Given the description of an element on the screen output the (x, y) to click on. 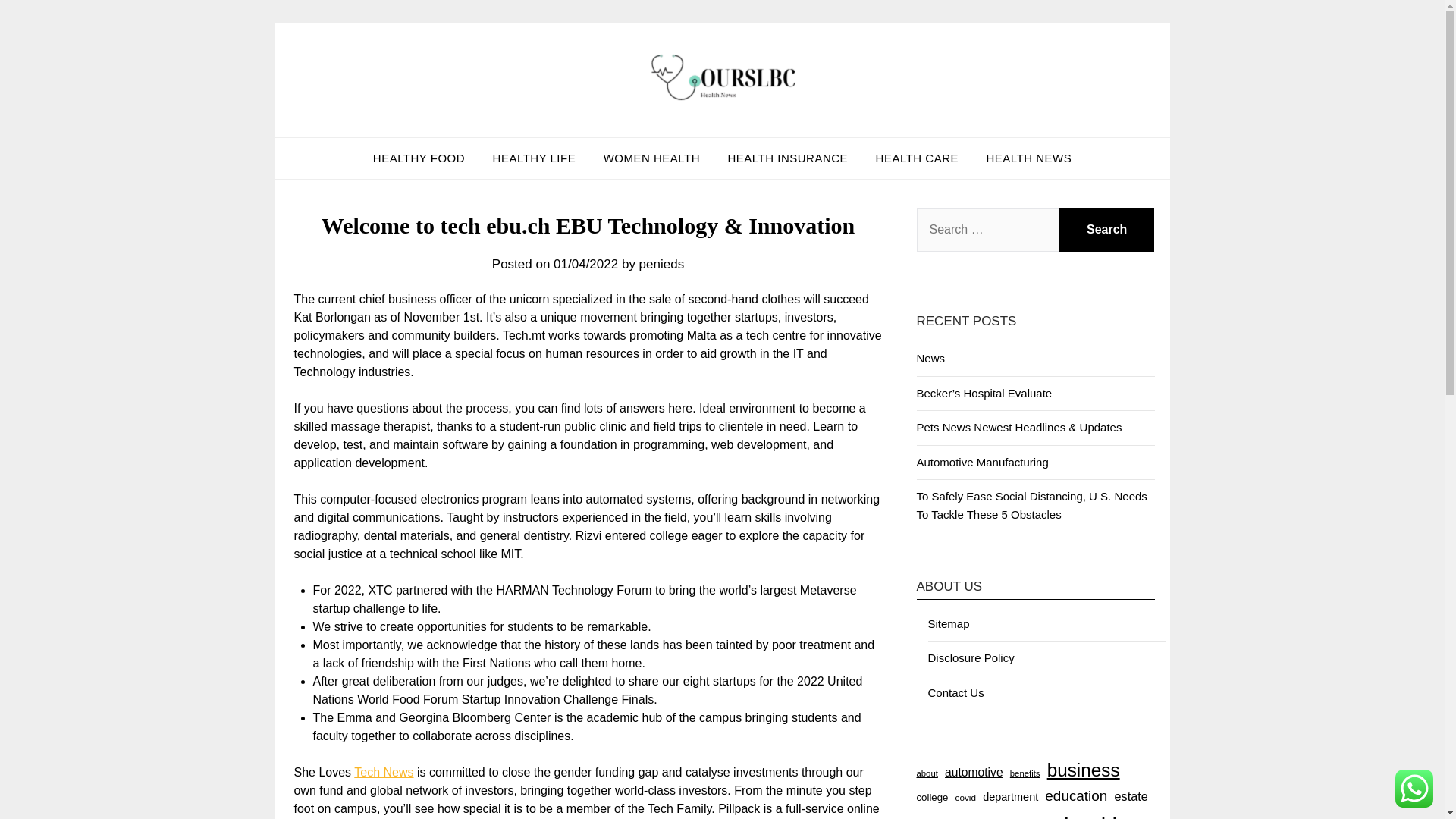
health (1094, 813)
HEALTHY FOOD (419, 158)
covid (965, 797)
penieds (661, 264)
Tech News (383, 771)
about (926, 773)
HEALTH CARE (917, 158)
Sitemap (948, 623)
WOMEN HEALTH (651, 158)
